Given the description of an element on the screen output the (x, y) to click on. 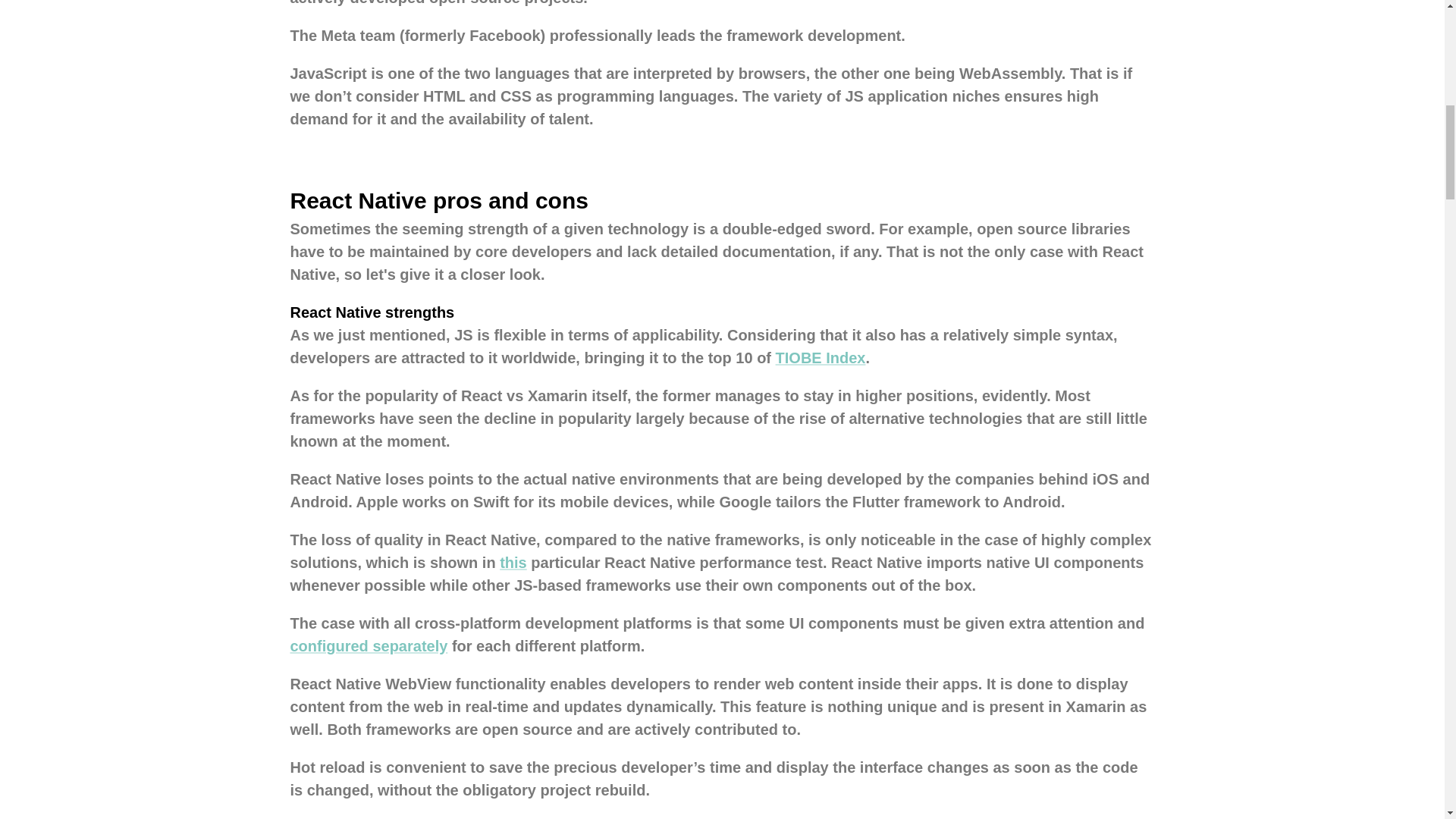
configured separately (367, 646)
TIOBE Index (821, 357)
this (513, 562)
